Given the description of an element on the screen output the (x, y) to click on. 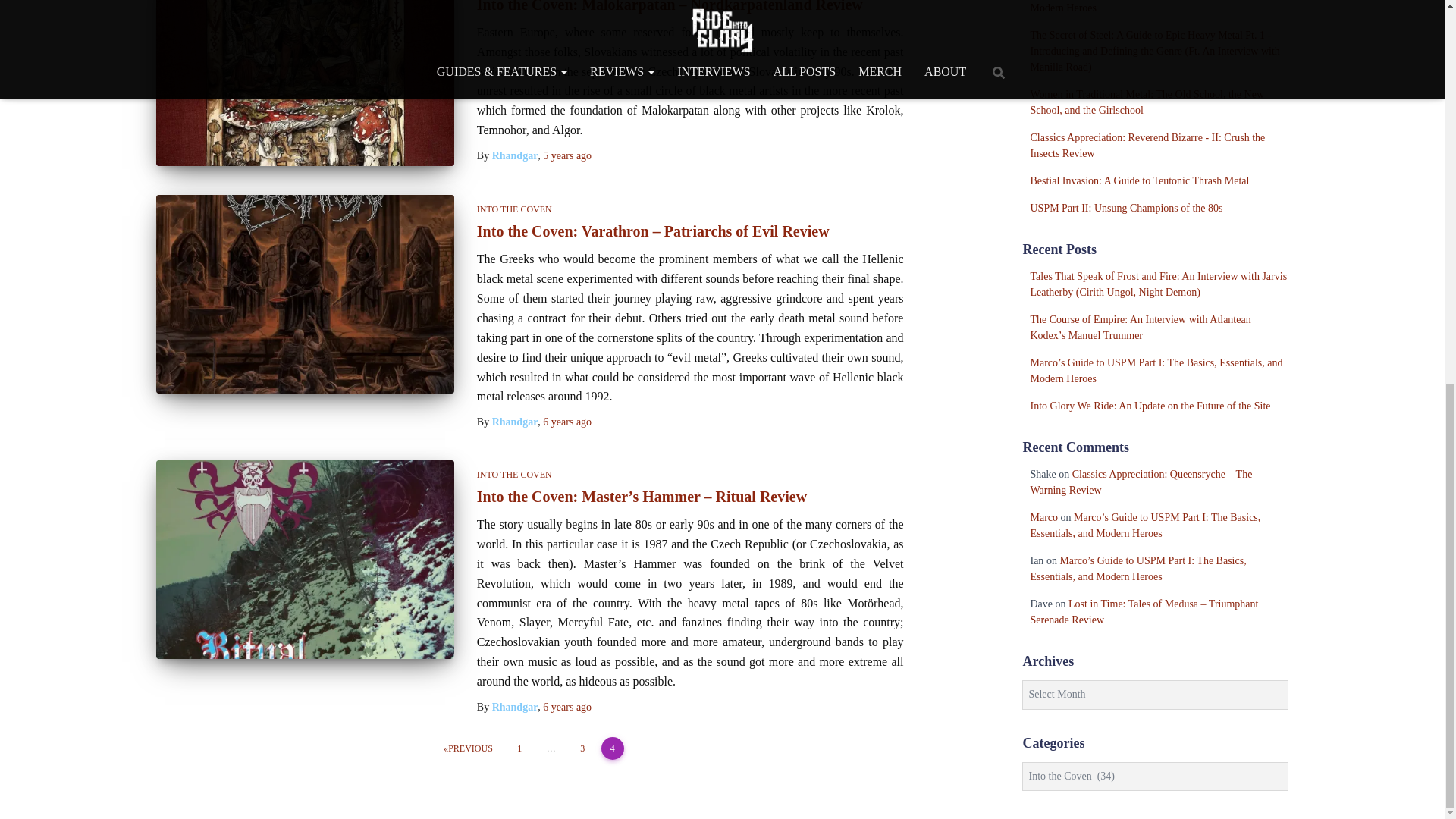
Rhandgar (515, 155)
INTO THE COVEN (514, 208)
5 years ago (567, 155)
